Given the description of an element on the screen output the (x, y) to click on. 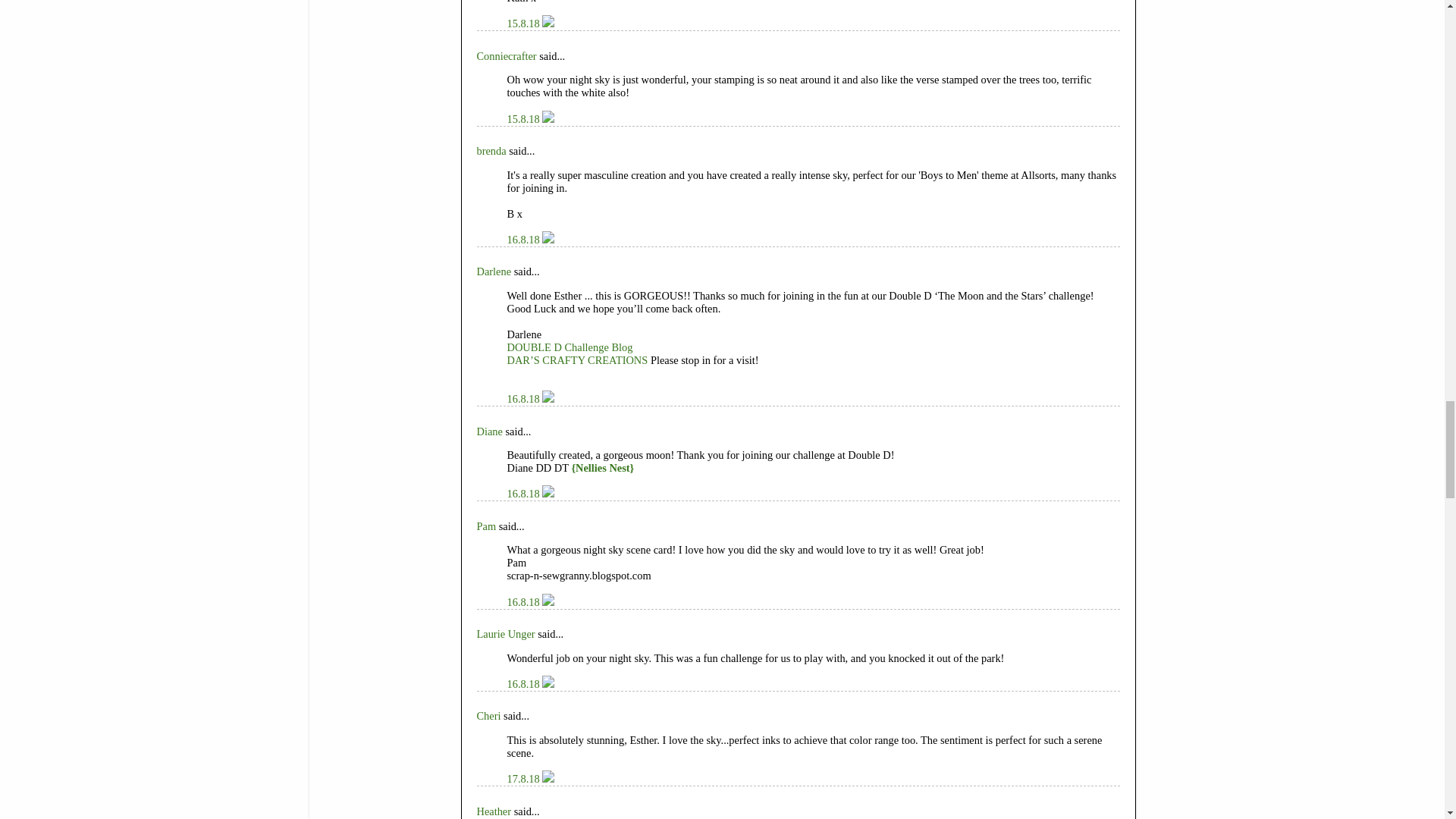
comment permalink (523, 23)
comment permalink (523, 119)
Delete Comment (547, 23)
